Given the description of an element on the screen output the (x, y) to click on. 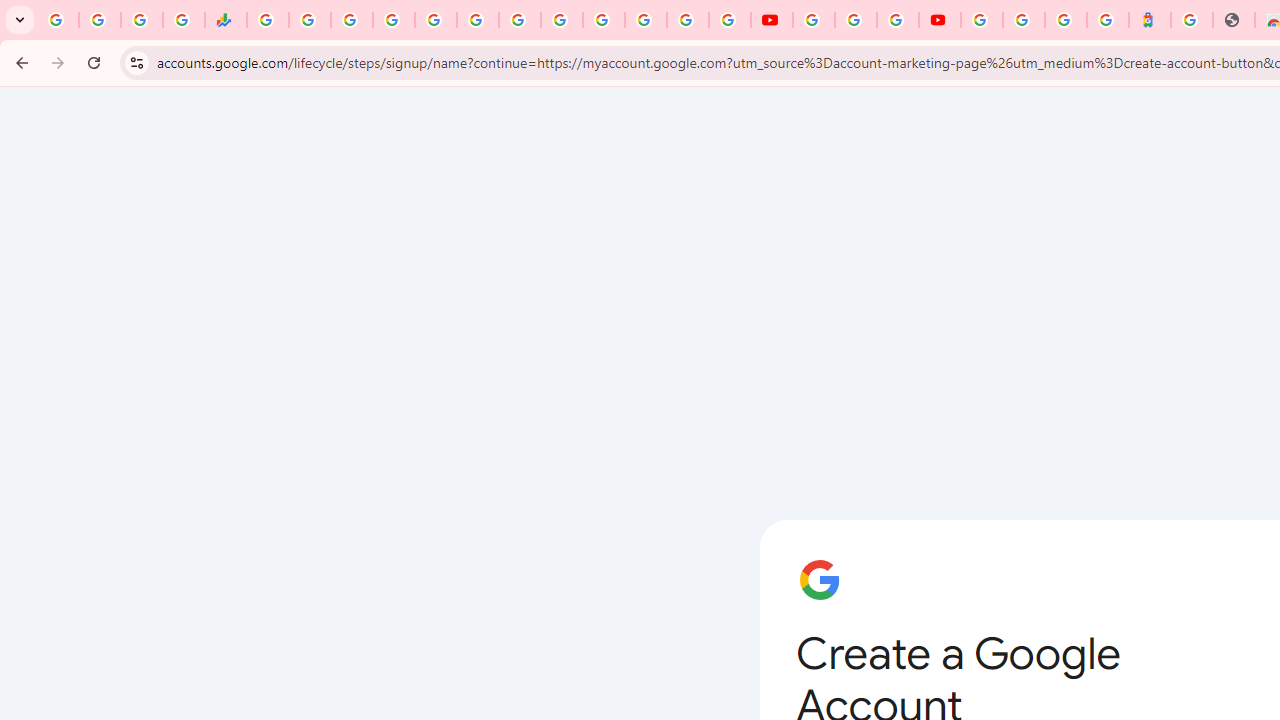
Privacy Checkup (730, 20)
Sign in - Google Accounts (982, 20)
Create your Google Account (897, 20)
Sign in - Google Accounts (1023, 20)
YouTube (561, 20)
Android TV Policies and Guidelines - Transparency Center (520, 20)
Content Creator Programs & Opportunities - YouTube Creators (940, 20)
